Given the description of an element on the screen output the (x, y) to click on. 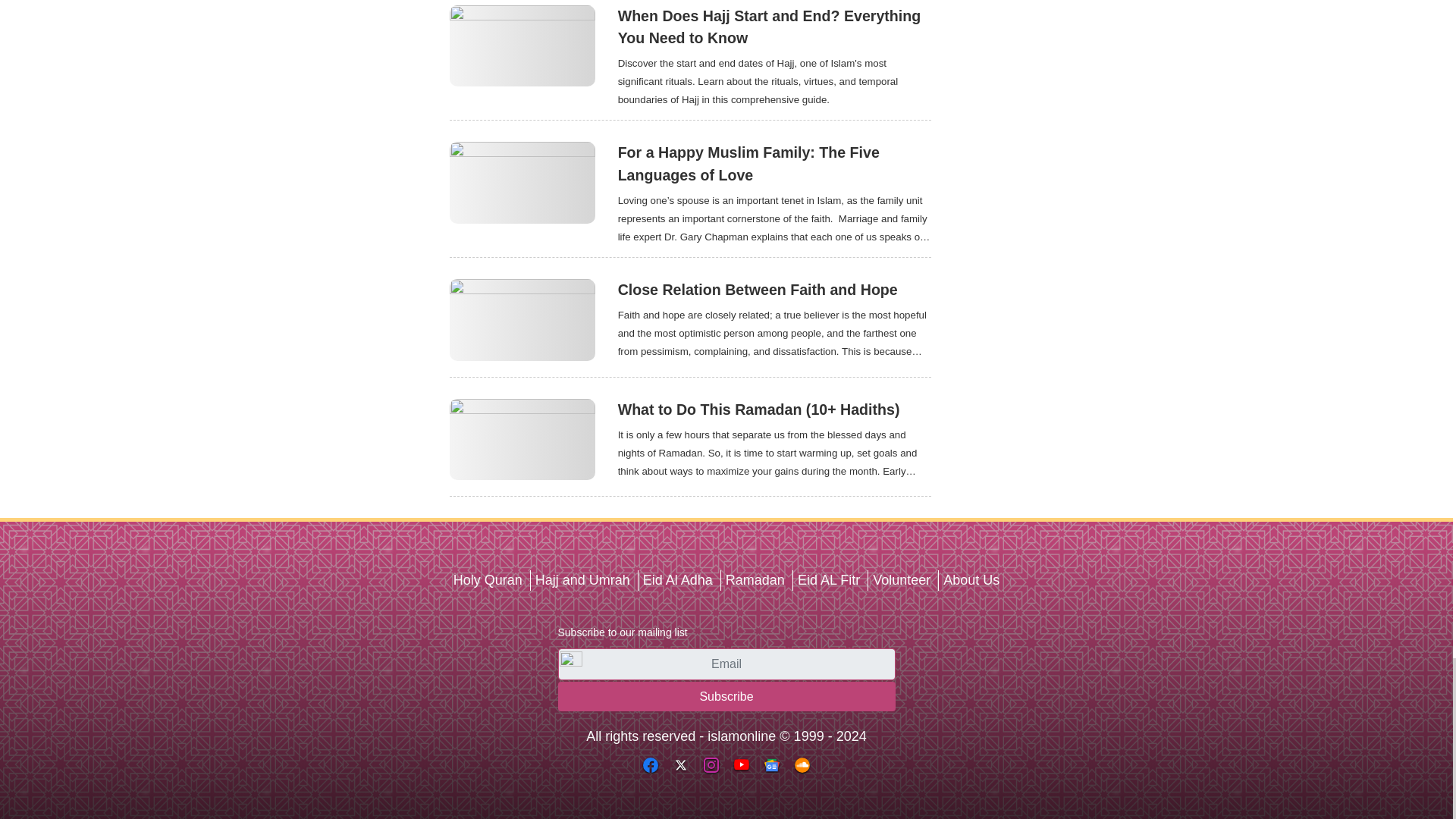
Subscribe (726, 696)
